Given the description of an element on the screen output the (x, y) to click on. 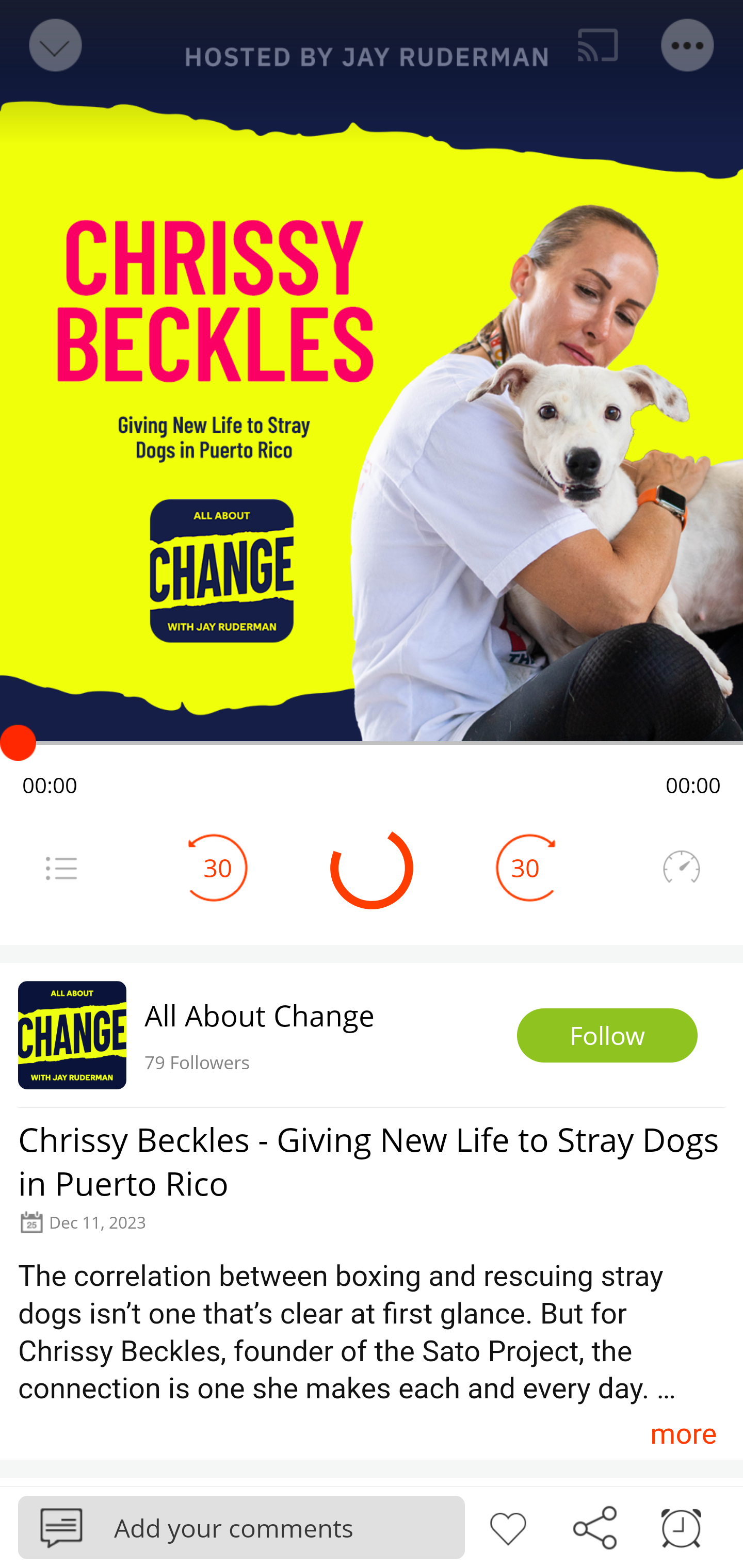
Back (53, 45)
Cast. Disconnected (597, 45)
Menu (688, 45)
30 Seek Backward (217, 867)
30 Seek Forward (525, 867)
Menu (60, 867)
Speedometer (681, 867)
All About Change 79 Followers Follow (371, 1034)
Follow (607, 1035)
more (682, 1432)
Like (508, 1526)
Share (594, 1526)
Sleep timer (681, 1526)
Podbean Add your comments (241, 1526)
